Given the description of an element on the screen output the (x, y) to click on. 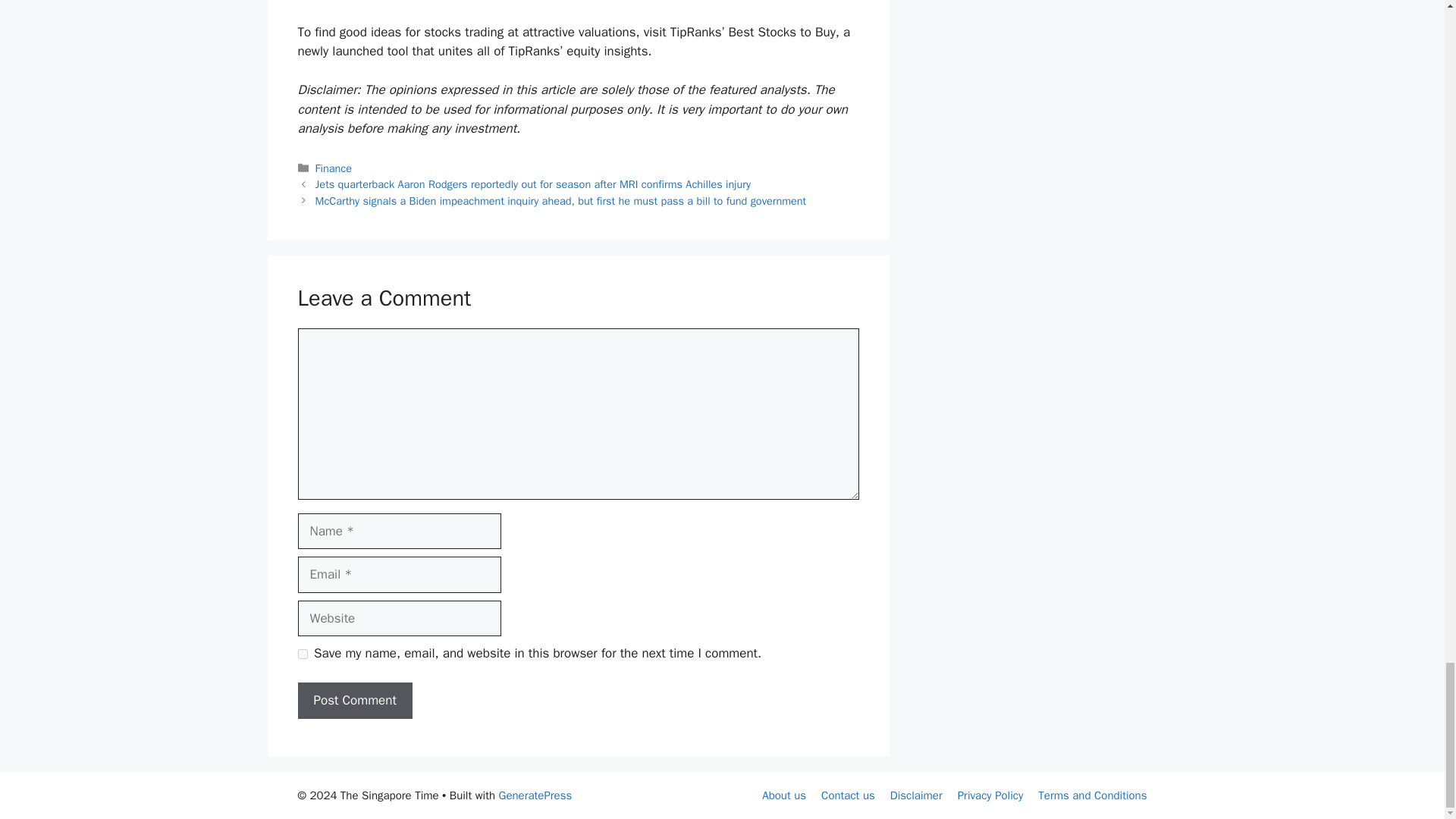
Post Comment (354, 700)
Terms and Conditions (1092, 795)
Disclaimer (915, 795)
Contact us (848, 795)
Finance (333, 168)
GeneratePress (535, 795)
About us (783, 795)
yes (302, 654)
Post Comment (354, 700)
Privacy Policy (990, 795)
